Given the description of an element on the screen output the (x, y) to click on. 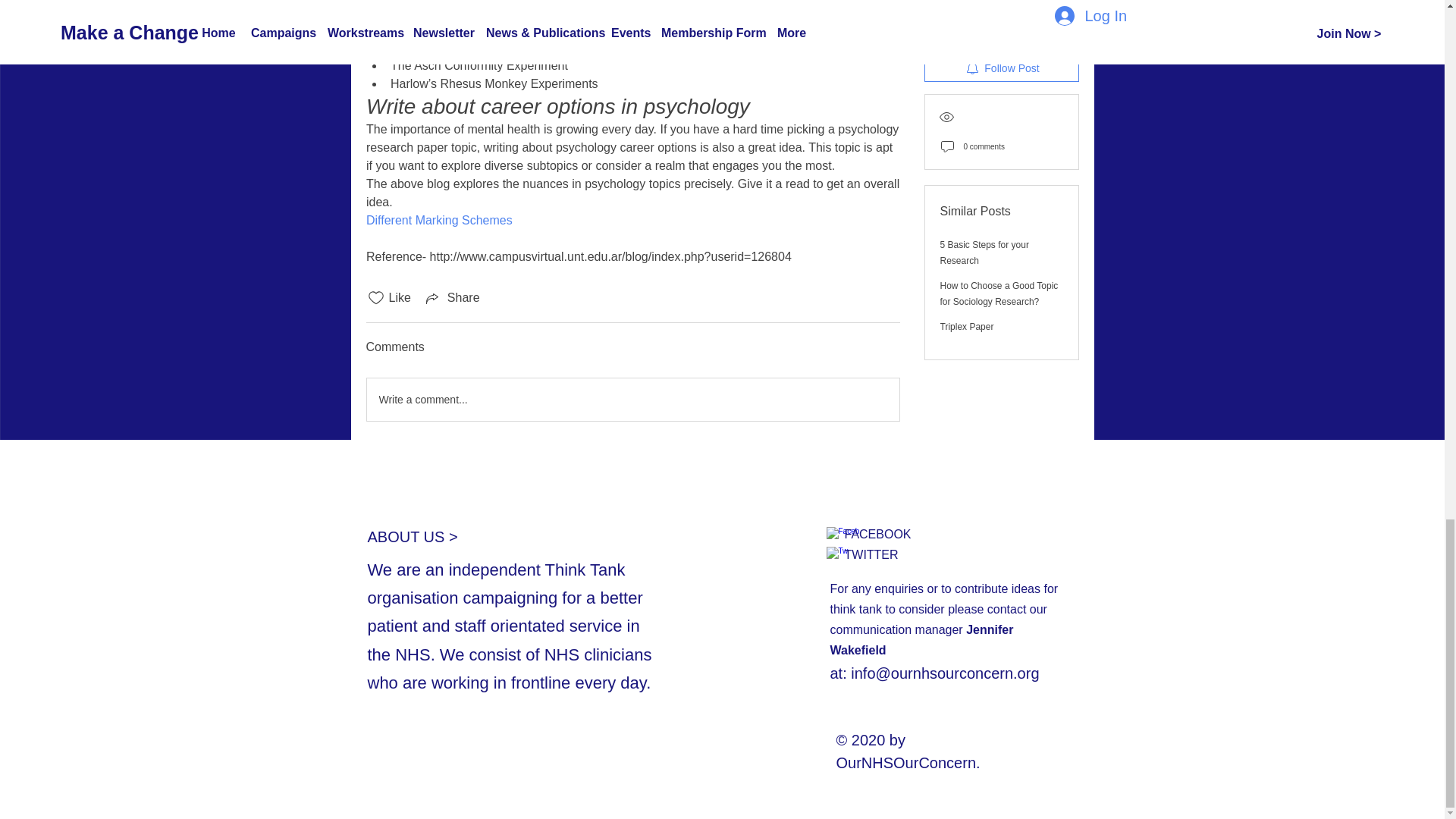
Different Marking Schemes (438, 219)
FACEBOOK (877, 533)
Share (451, 298)
Write a comment... (632, 399)
